Given the description of an element on the screen output the (x, y) to click on. 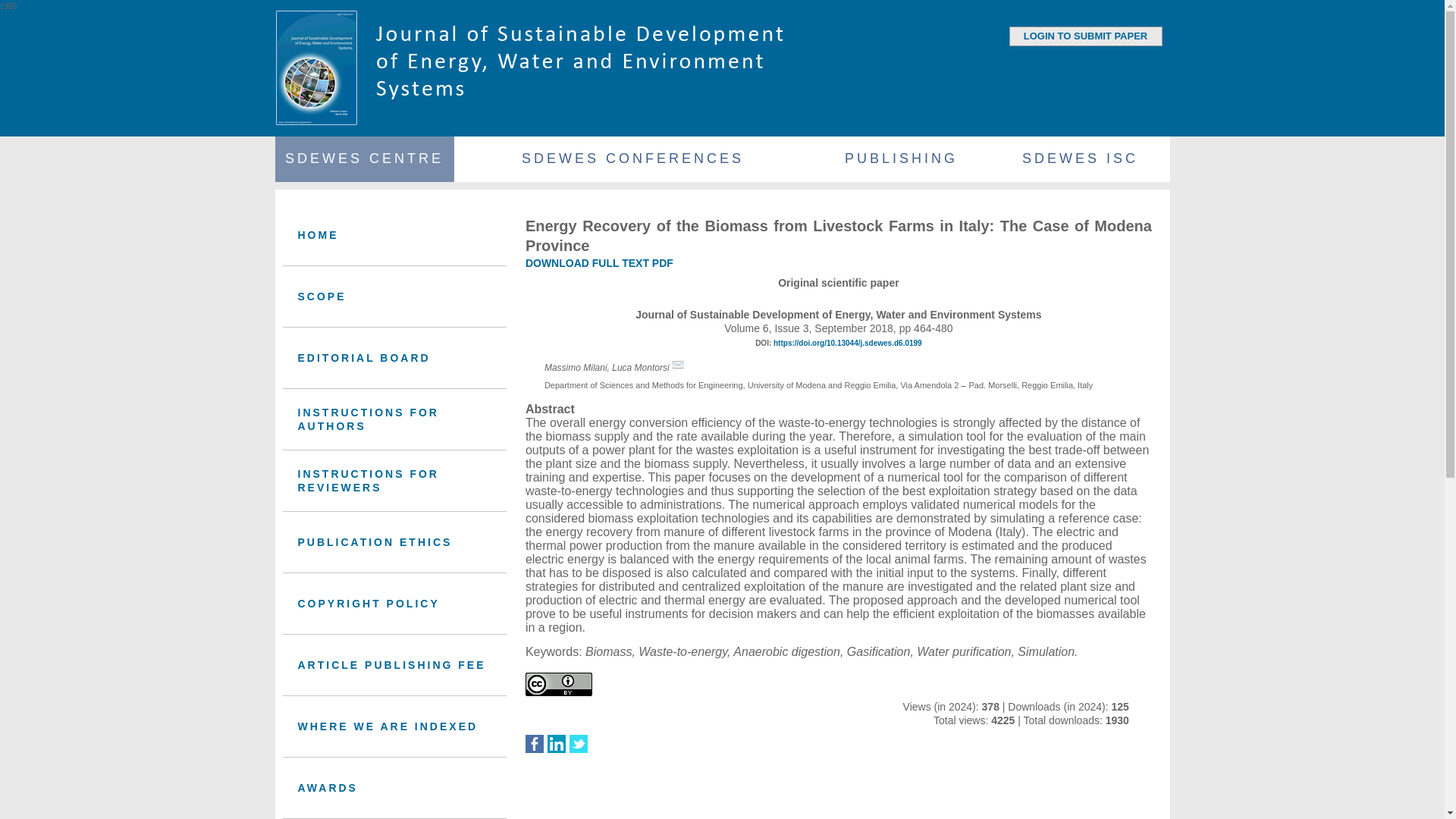
SDEWES CENTRE (363, 158)
PUBLISHING (900, 158)
LOGIN TO SUBMIT PAPER (1085, 35)
SDEWES ISC (1079, 158)
SDEWES CONFERENCES (631, 158)
